Given the description of an element on the screen output the (x, y) to click on. 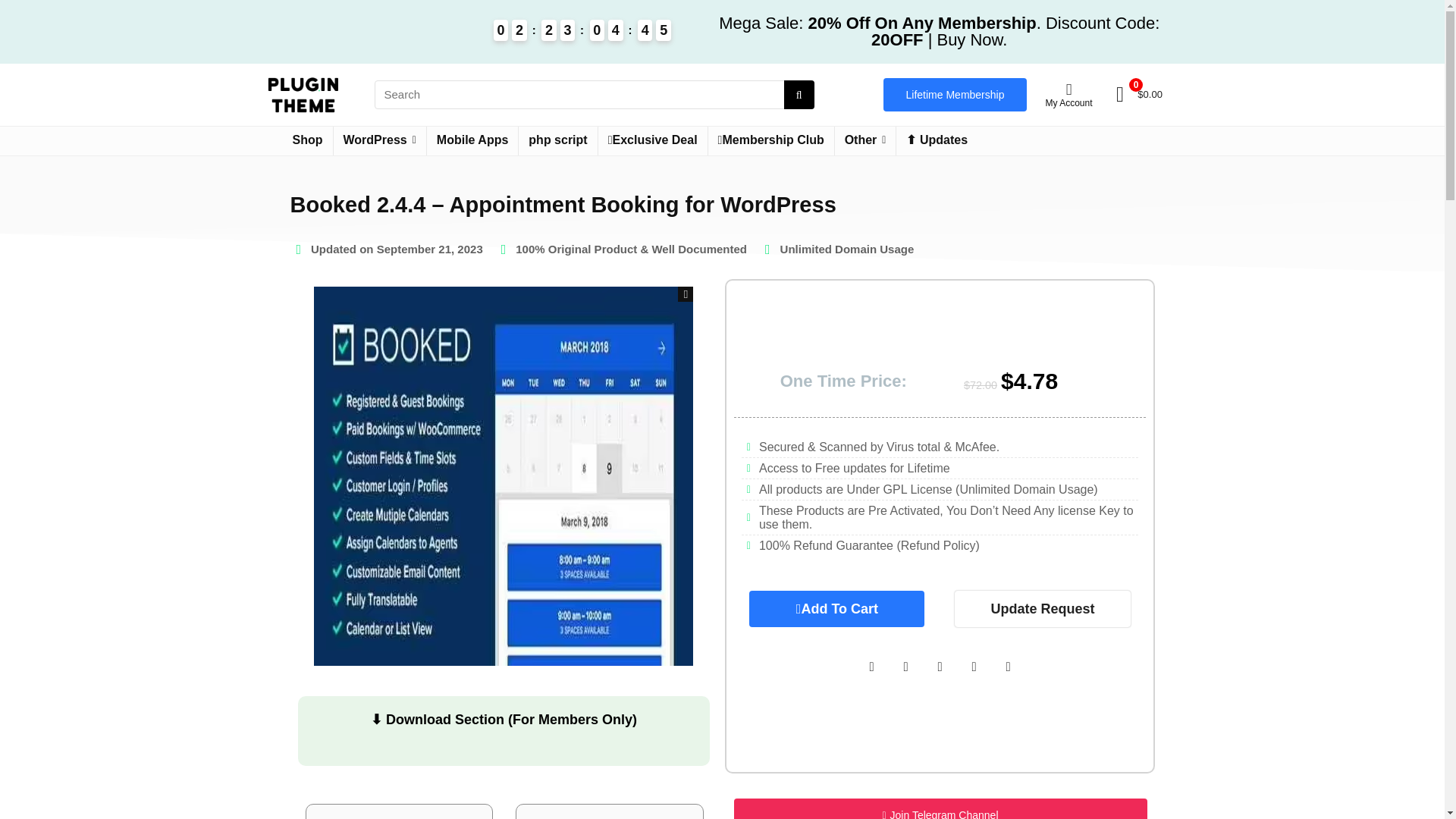
Update Request (1042, 608)
Mobile Apps (472, 140)
php script (557, 140)
WordPress (379, 140)
Shop (306, 140)
Join Telegram Channel (940, 808)
Other (865, 140)
Add To Cart (836, 608)
Lifetime Membership (955, 94)
